Given the description of an element on the screen output the (x, y) to click on. 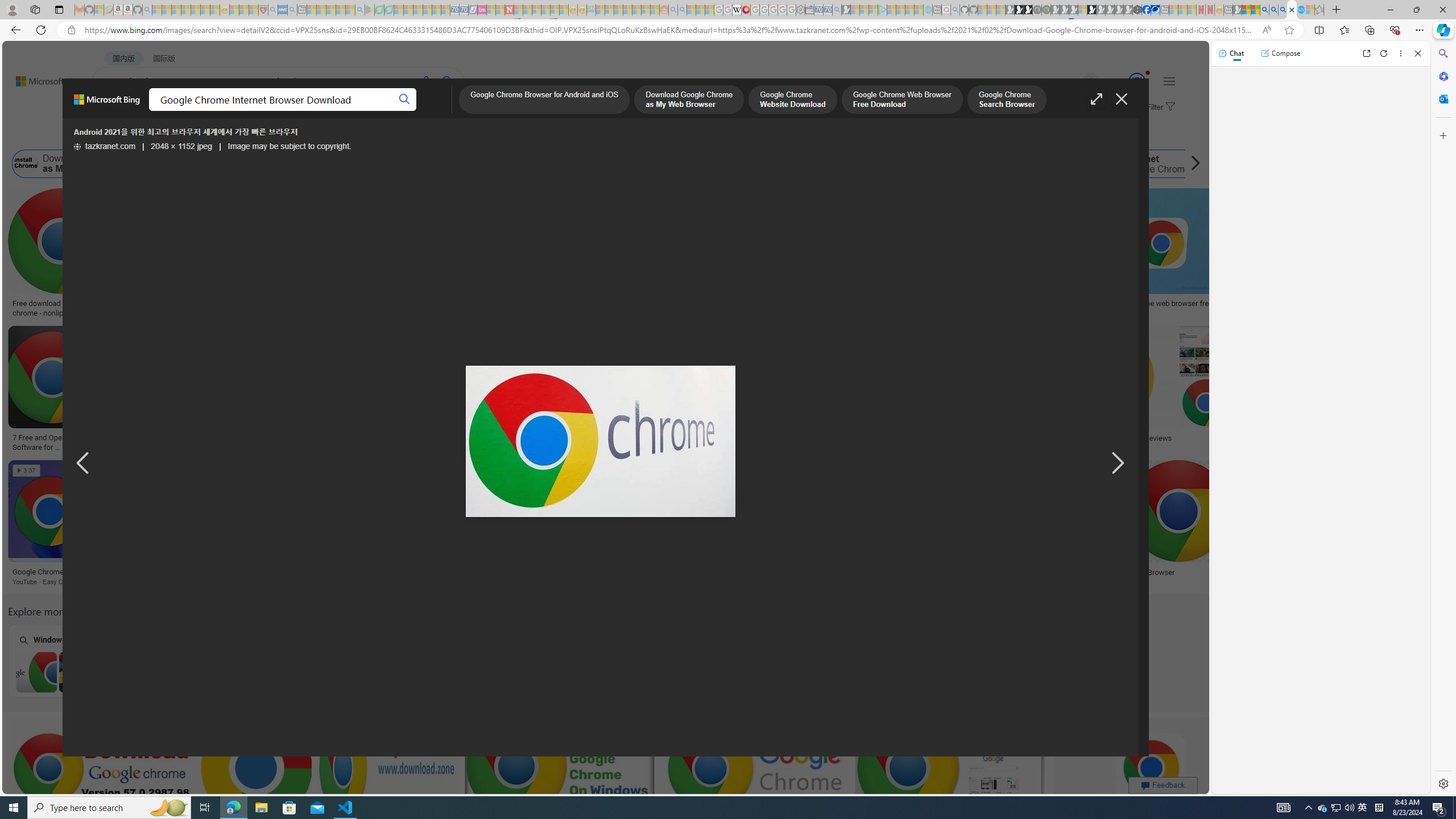
Google Chrome Internet Browser Download - Search Images (1291, 9)
What Is The Fastest Browser To Use With Windows 10 (1034, 576)
Bing AI - Search (1264, 9)
Date (336, 135)
All Categories - humanrewa (583, 437)
